Given the description of an element on the screen output the (x, y) to click on. 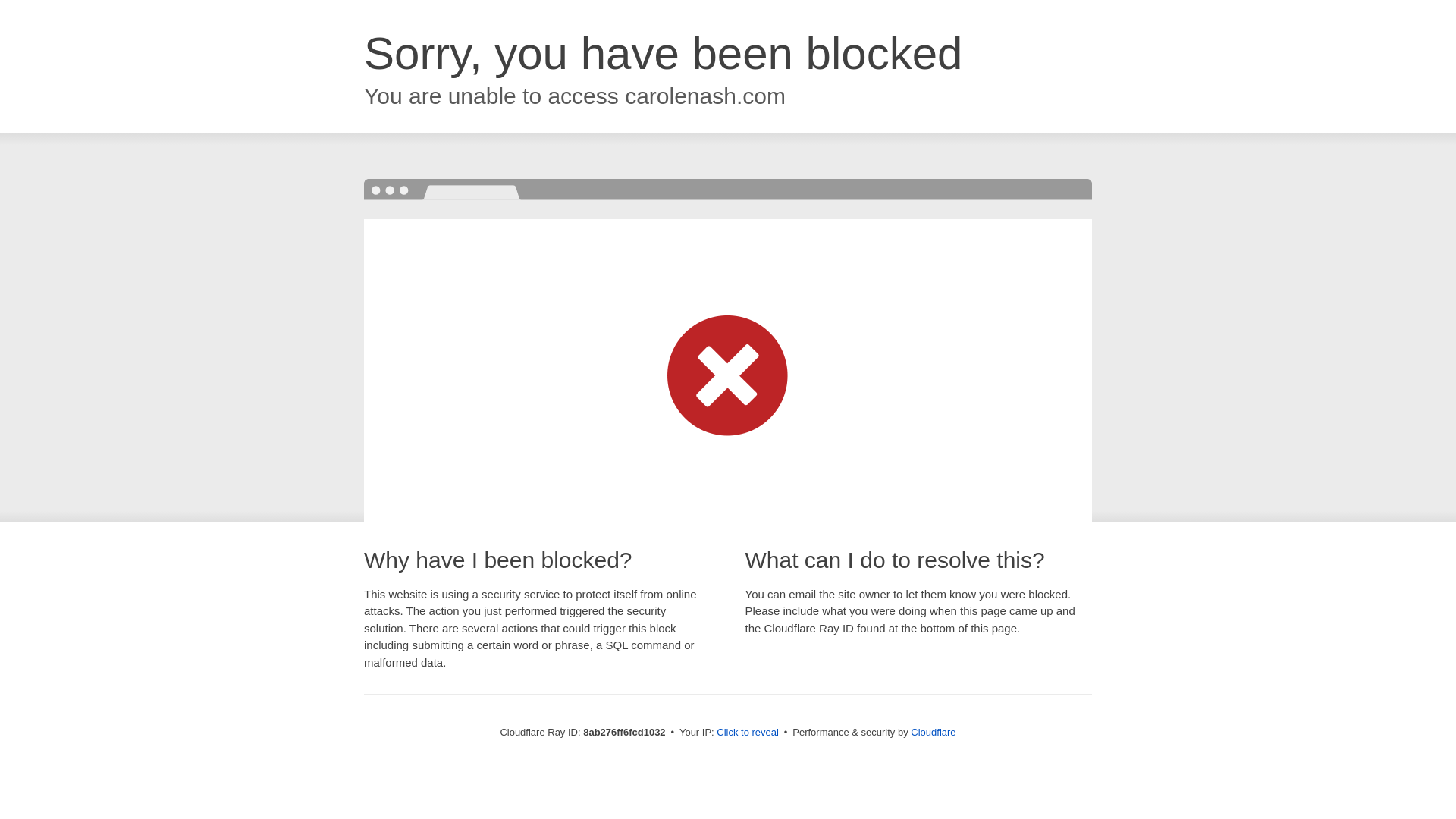
Cloudflare (933, 731)
Click to reveal (747, 732)
